Given the description of an element on the screen output the (x, y) to click on. 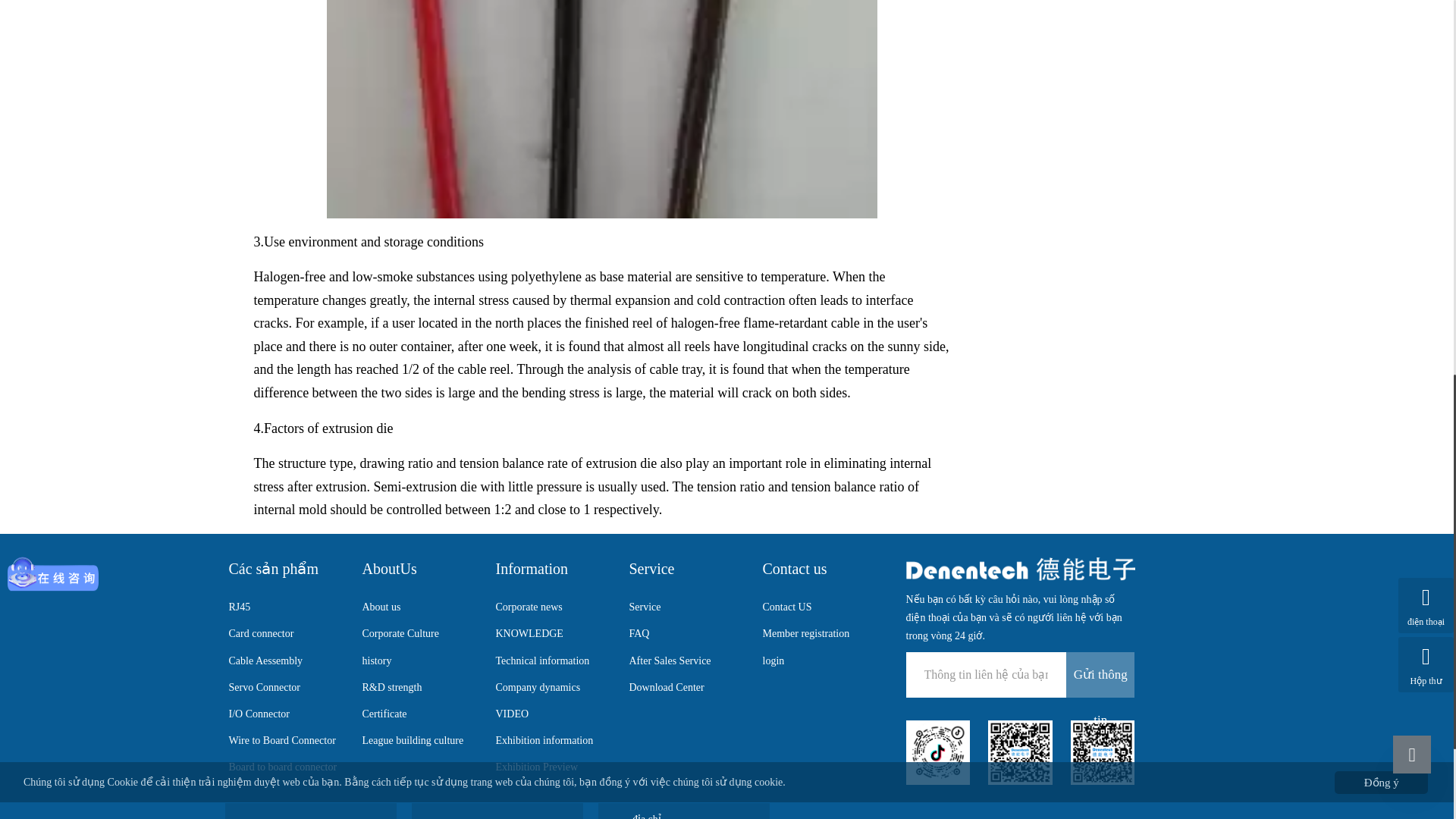
Denentech Electronic Technology Co., LTd (1019, 568)
